Given the description of an element on the screen output the (x, y) to click on. 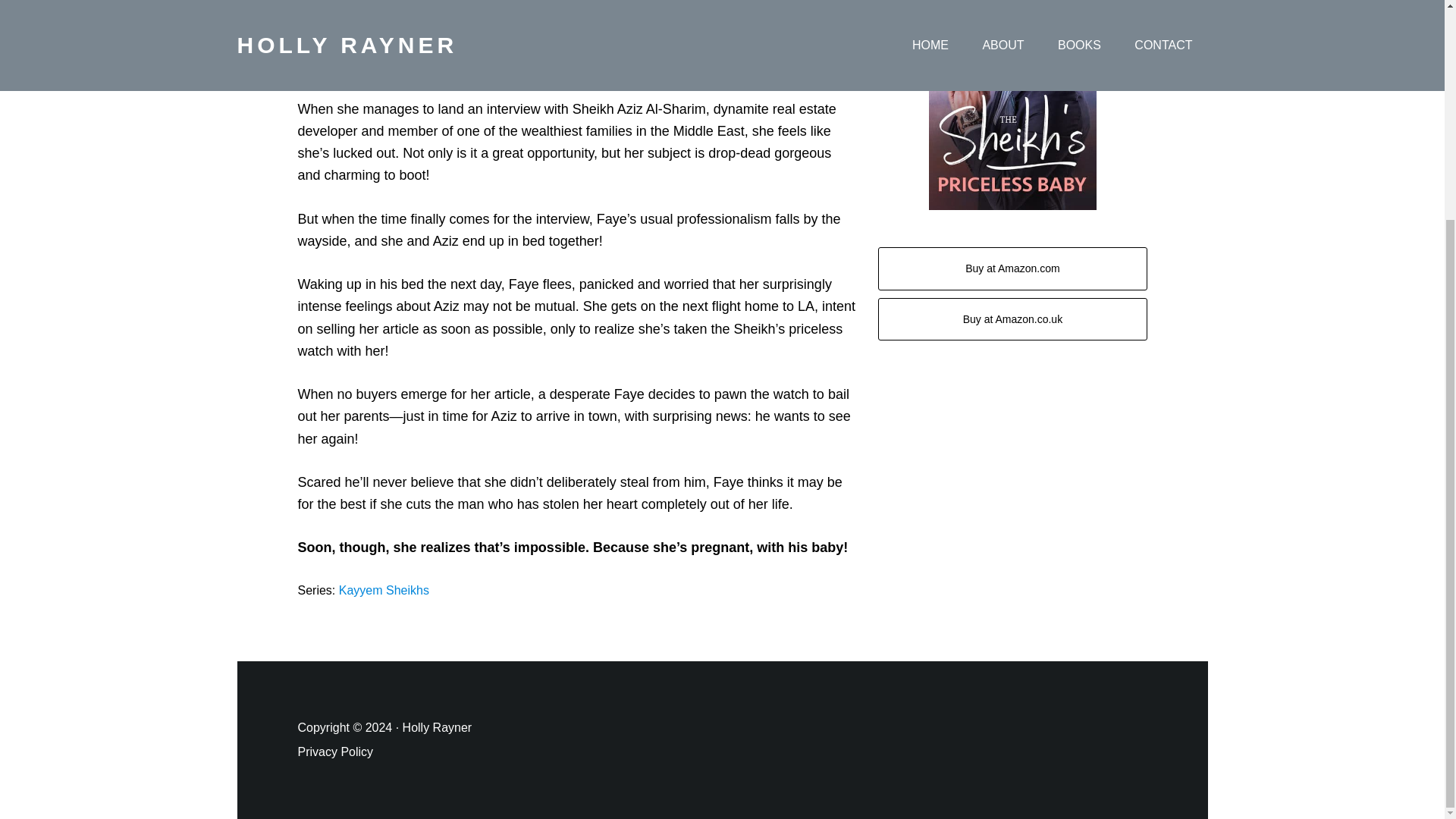
Buy at Amazon.co.uk (1012, 319)
Buy at Amazon.com (1012, 268)
Privacy Policy (334, 751)
Kayyem Sheikhs (384, 590)
